Given the description of an element on the screen output the (x, y) to click on. 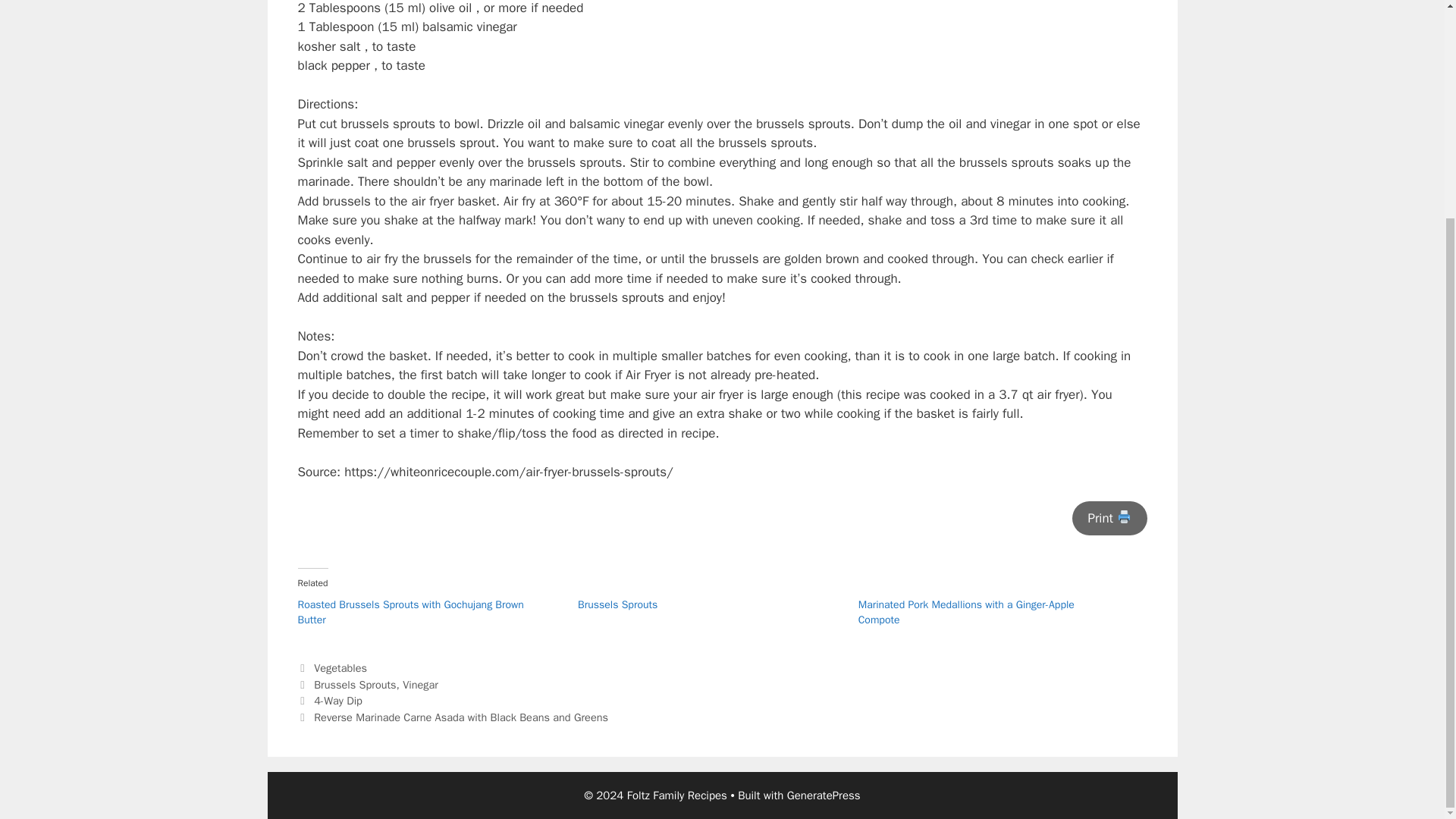
Roasted Brussels Sprouts with Gochujang Brown Butter (409, 612)
Brussels Sprouts (618, 604)
Marinated Pork Medallions with a Ginger-Apple Compote (966, 612)
